Given the description of an element on the screen output the (x, y) to click on. 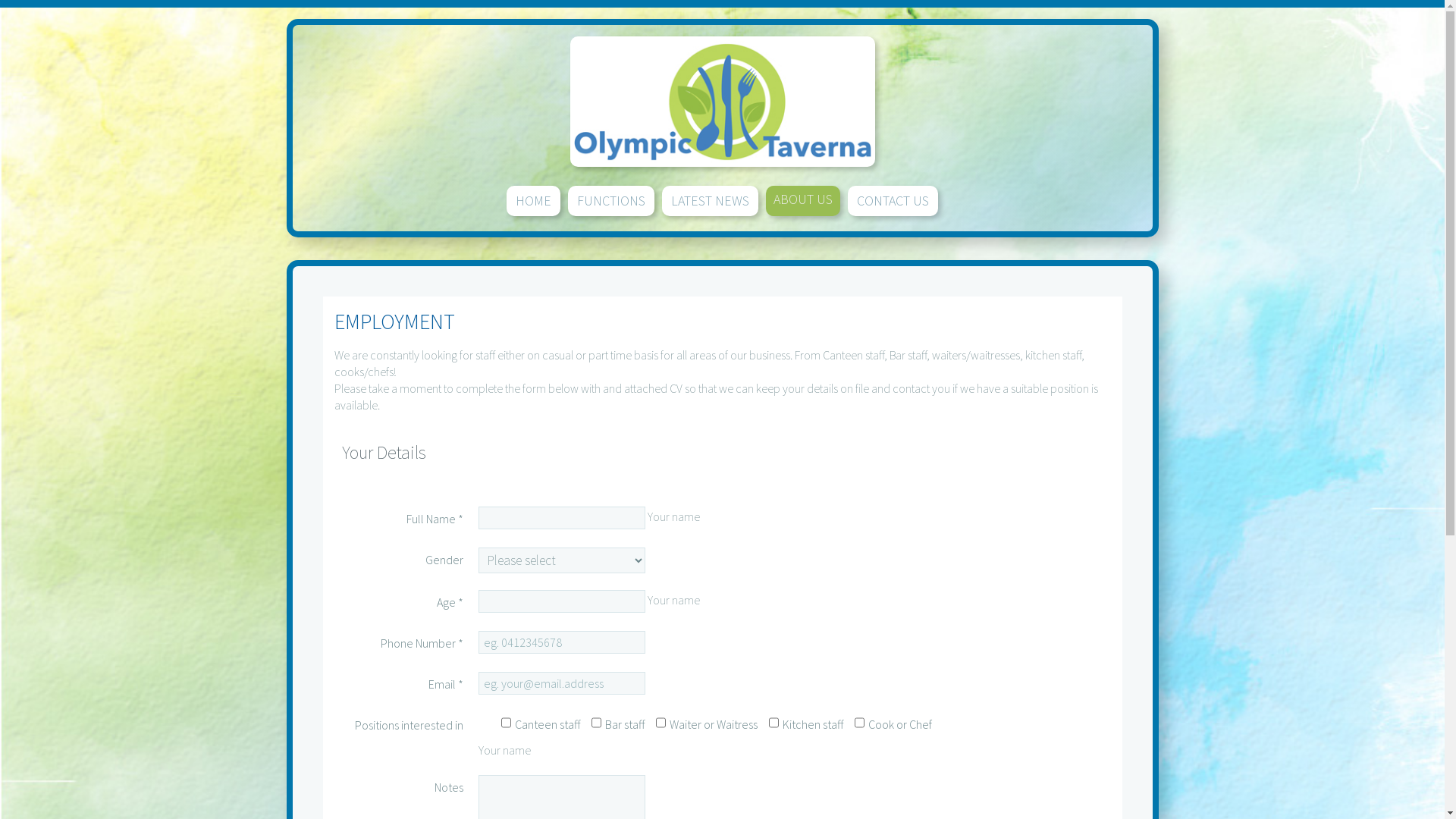
LATEST NEWS Element type: text (710, 200)
ABOUT US Element type: text (802, 200)
HOME Element type: text (533, 200)
FUNCTIONS Element type: text (610, 200)
CONTACT US Element type: text (892, 200)
